Given the description of an element on the screen output the (x, y) to click on. 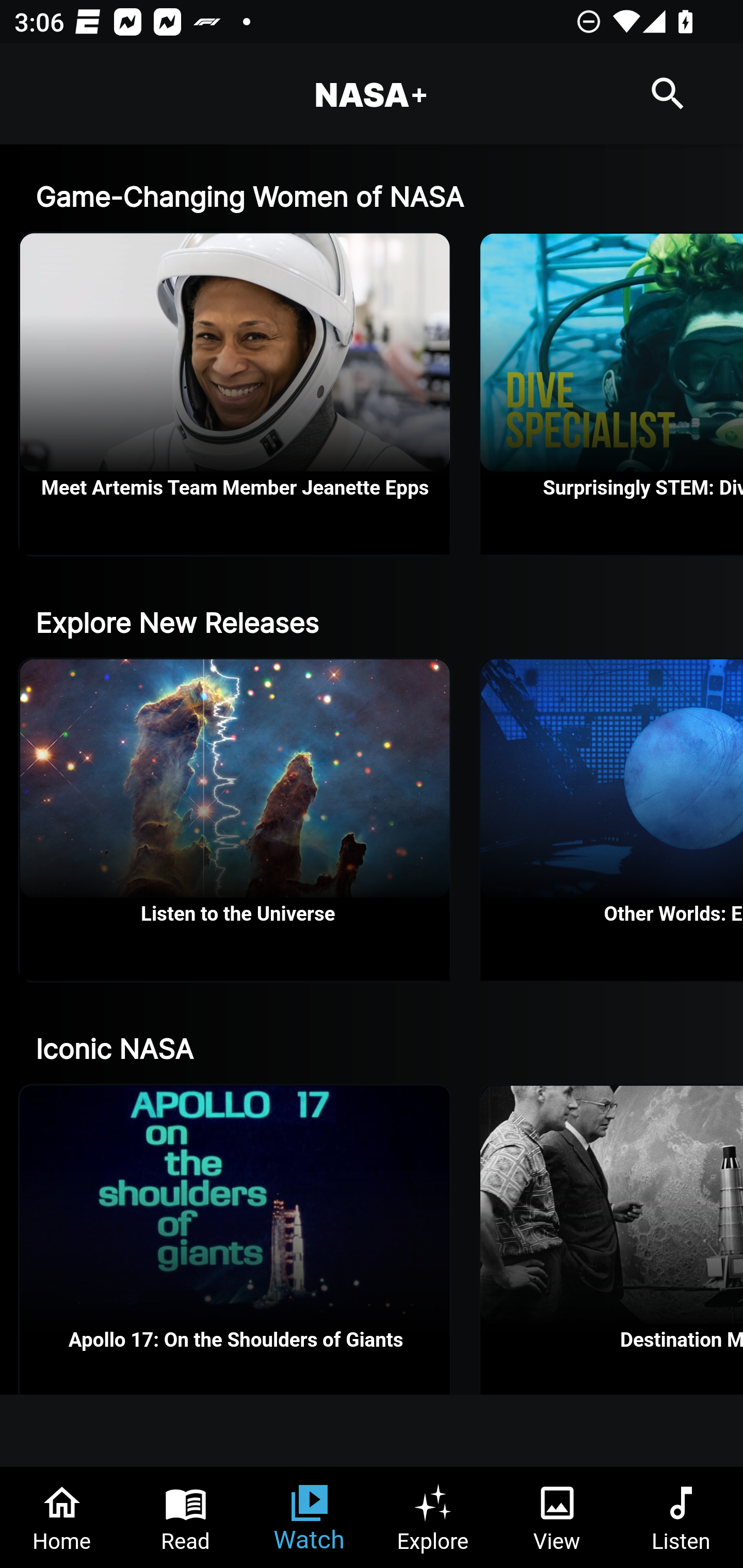
Meet Artemis Team Member Jeanette Epps (235, 394)
Surprisingly STEM: Dive Specialist (611, 394)
Listen to the Universe (235, 819)
Other Worlds: Europa (611, 819)
Apollo 17: On the Shoulders of Giants (235, 1239)
Destination Moon (611, 1239)
Home
Tab 1 of 6 (62, 1517)
Read
Tab 2 of 6 (185, 1517)
Watch
Tab 3 of 6 (309, 1517)
Explore
Tab 4 of 6 (433, 1517)
View
Tab 5 of 6 (556, 1517)
Listen
Tab 6 of 6 (680, 1517)
